Given the description of an element on the screen output the (x, y) to click on. 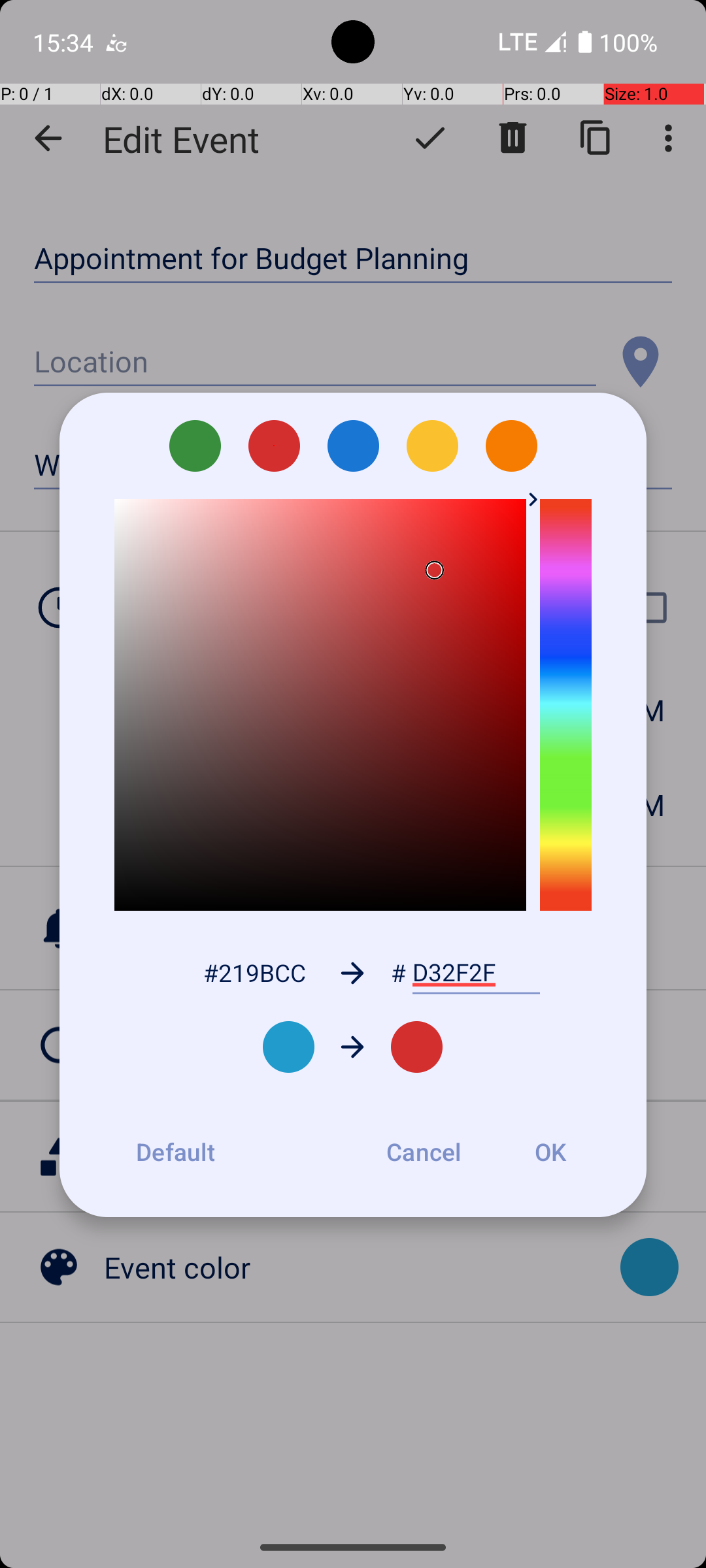
#219BCC Element type: android.widget.TextView (254, 972)
D32F2F Element type: android.widget.EditText (475, 972)
Default Element type: android.widget.Button (174, 1151)
